Given the description of an element on the screen output the (x, y) to click on. 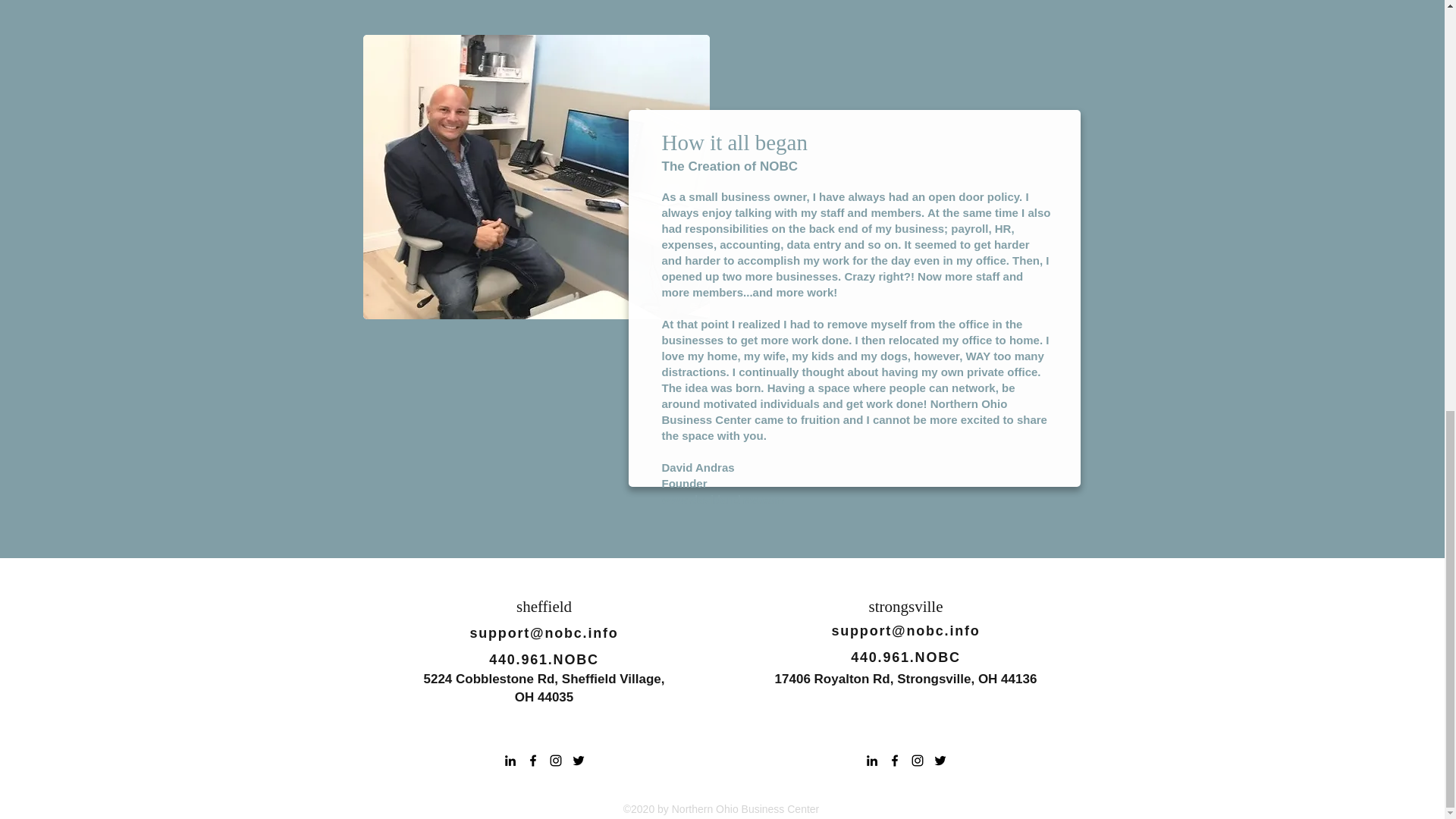
440.961.NOBC (543, 659)
www.davidandras.com (722, 499)
sheffield (544, 606)
David Andras (697, 467)
strongsville (906, 606)
440.961.NOBC (905, 657)
